Given the description of an element on the screen output the (x, y) to click on. 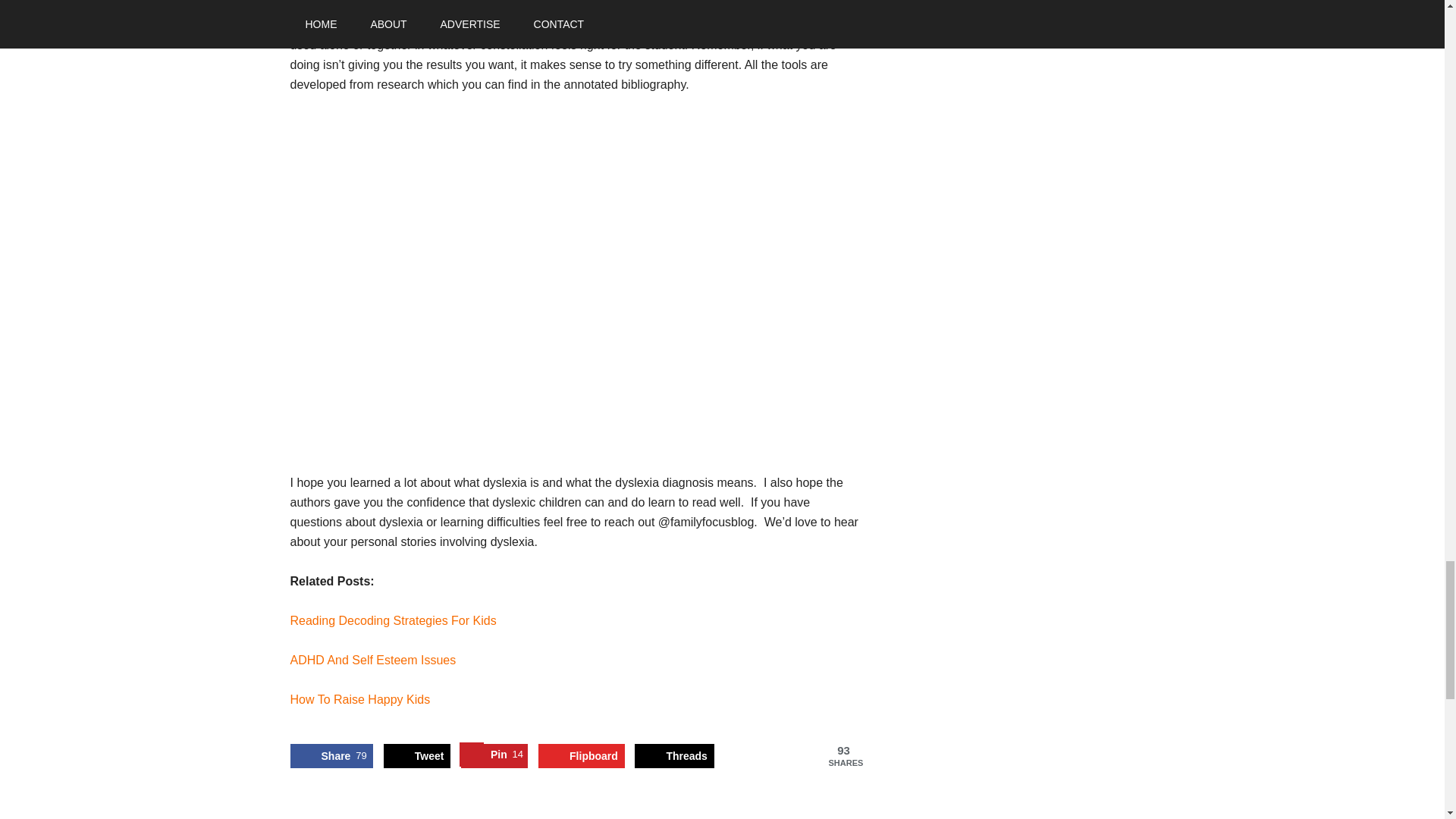
Threads (673, 755)
How To Raise Happy Kids (359, 698)
Share on X (417, 755)
Share on Flipboard (581, 755)
ADHD And Self Esteem Issues (372, 659)
Share on Facebook (330, 755)
Dyslexia Tool Kit for Tutors and Parents (330, 755)
Flipboard (593, 6)
